Given the description of an element on the screen output the (x, y) to click on. 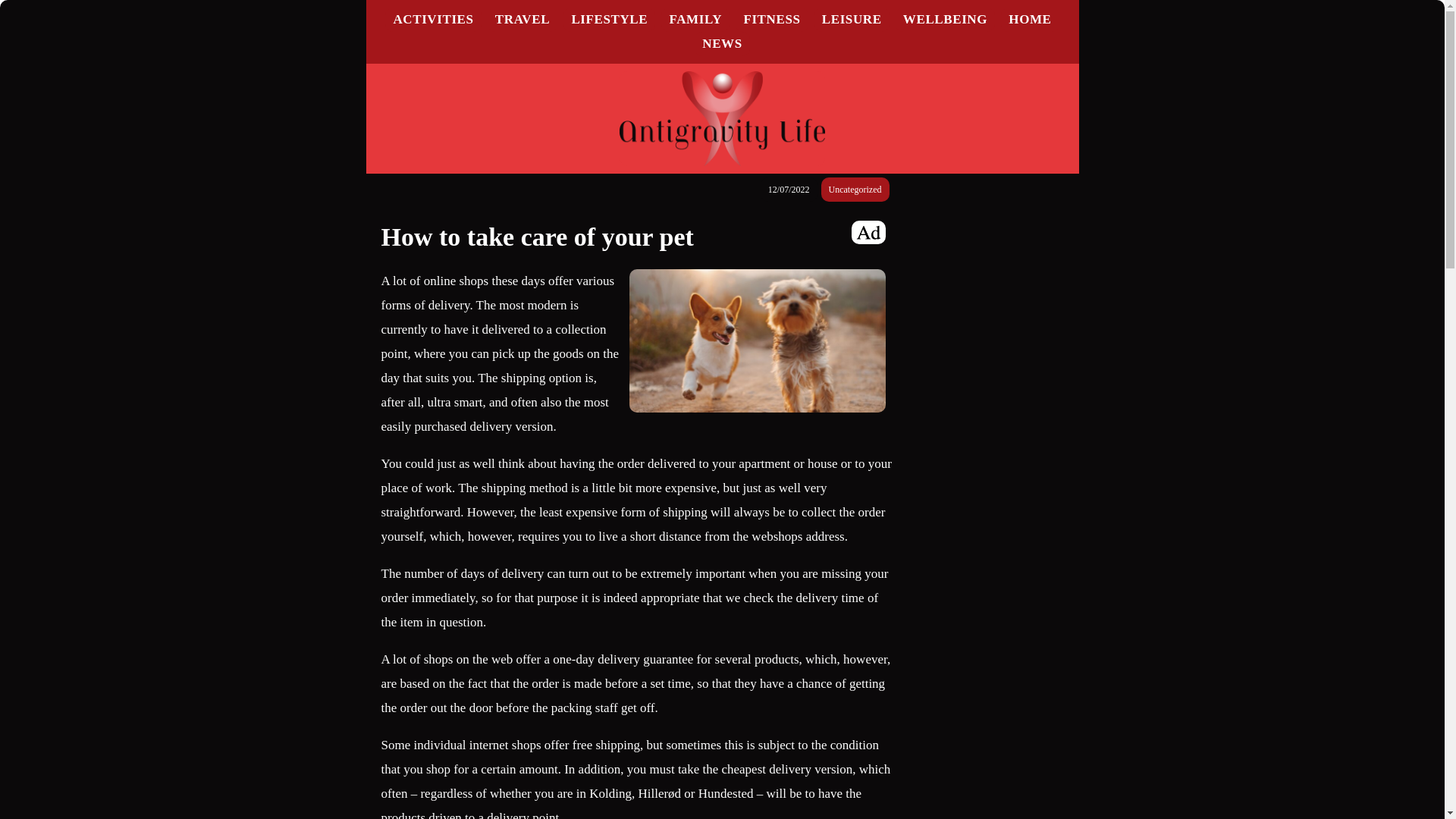
ACTIVITIES (433, 19)
LIFESTYLE (608, 19)
FAMILY (695, 19)
HOME (1030, 19)
TRAVEL (522, 19)
WELLBEING (944, 19)
FITNESS (770, 19)
NEWS (721, 43)
LEISURE (852, 19)
